Given the description of an element on the screen output the (x, y) to click on. 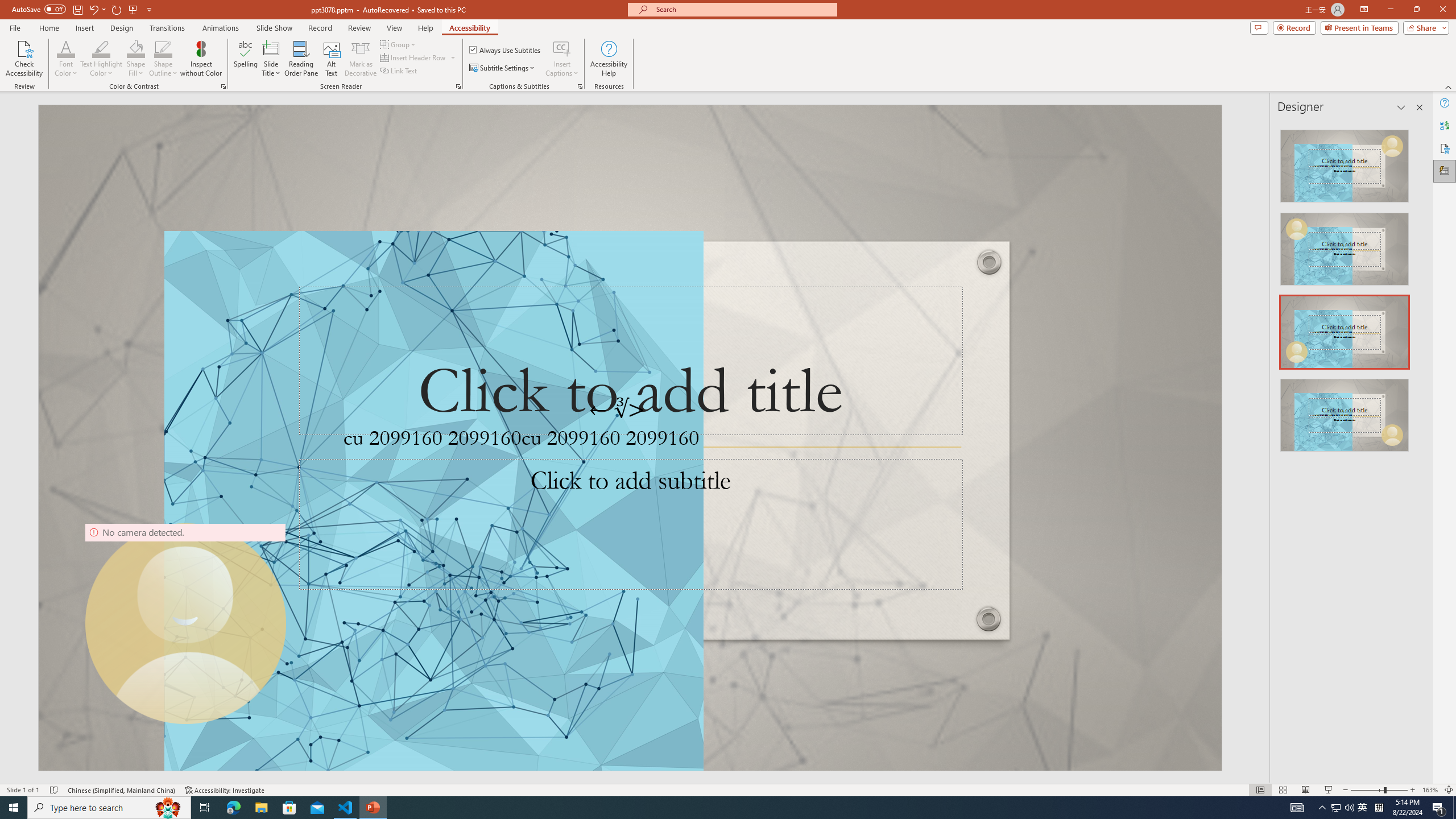
Inspect without Color (201, 58)
An abstract genetic concept (630, 437)
TextBox 7 (617, 409)
